Given the description of an element on the screen output the (x, y) to click on. 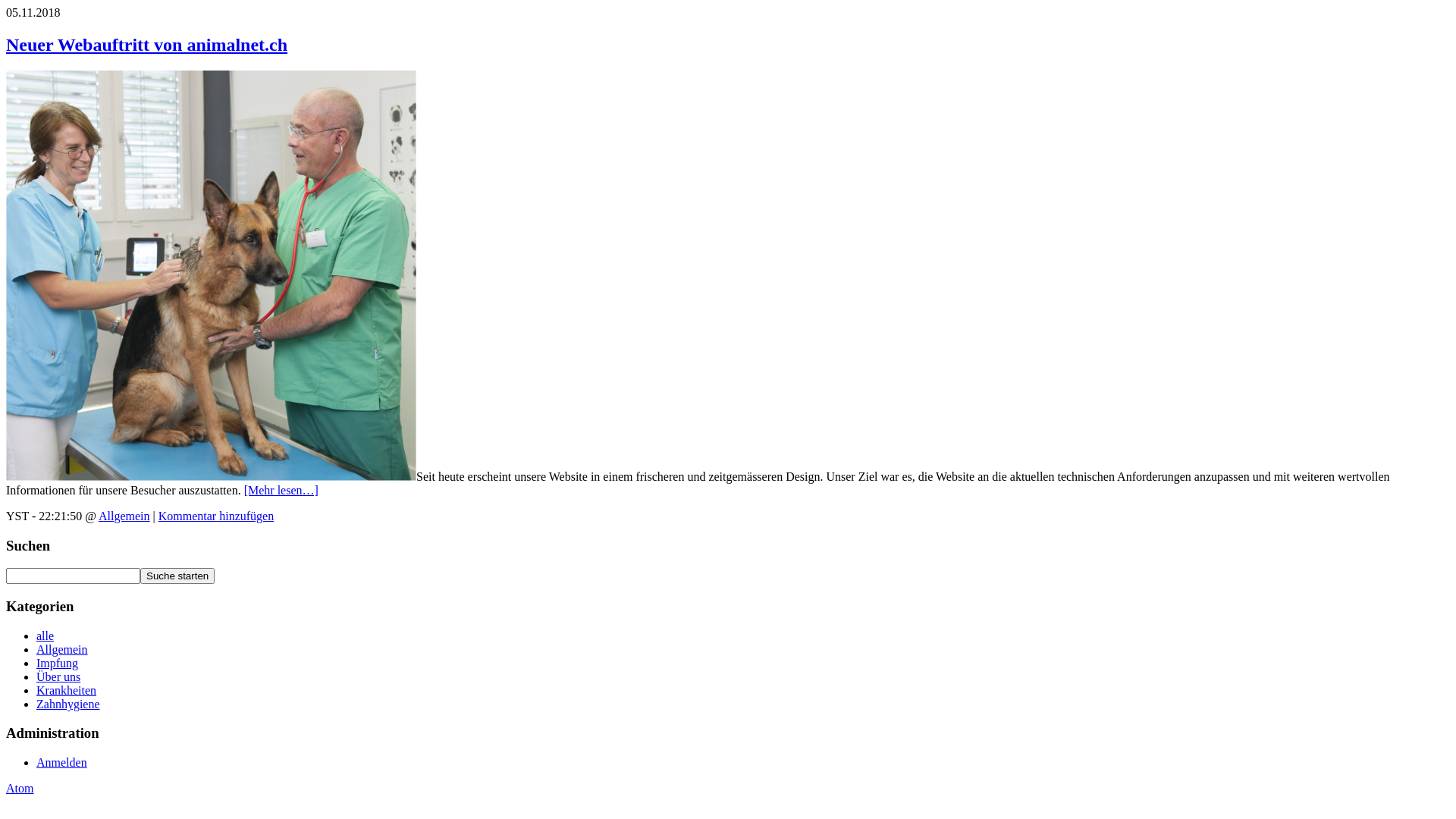
Atom Element type: text (19, 787)
Suche starten Element type: text (177, 575)
Allgemein Element type: text (61, 649)
Impfung Element type: text (57, 662)
alle Element type: text (44, 635)
Krankheiten Element type: text (66, 690)
Zahnhygiene Element type: text (68, 703)
Anmelden Element type: text (61, 762)
kleintierpraxis-zollikon-diagnose.jpg Element type: hover (211, 476)
Neuer Webauftritt von animalnet.ch Element type: text (146, 44)
Allgemein Element type: text (124, 515)
